Given the description of an element on the screen output the (x, y) to click on. 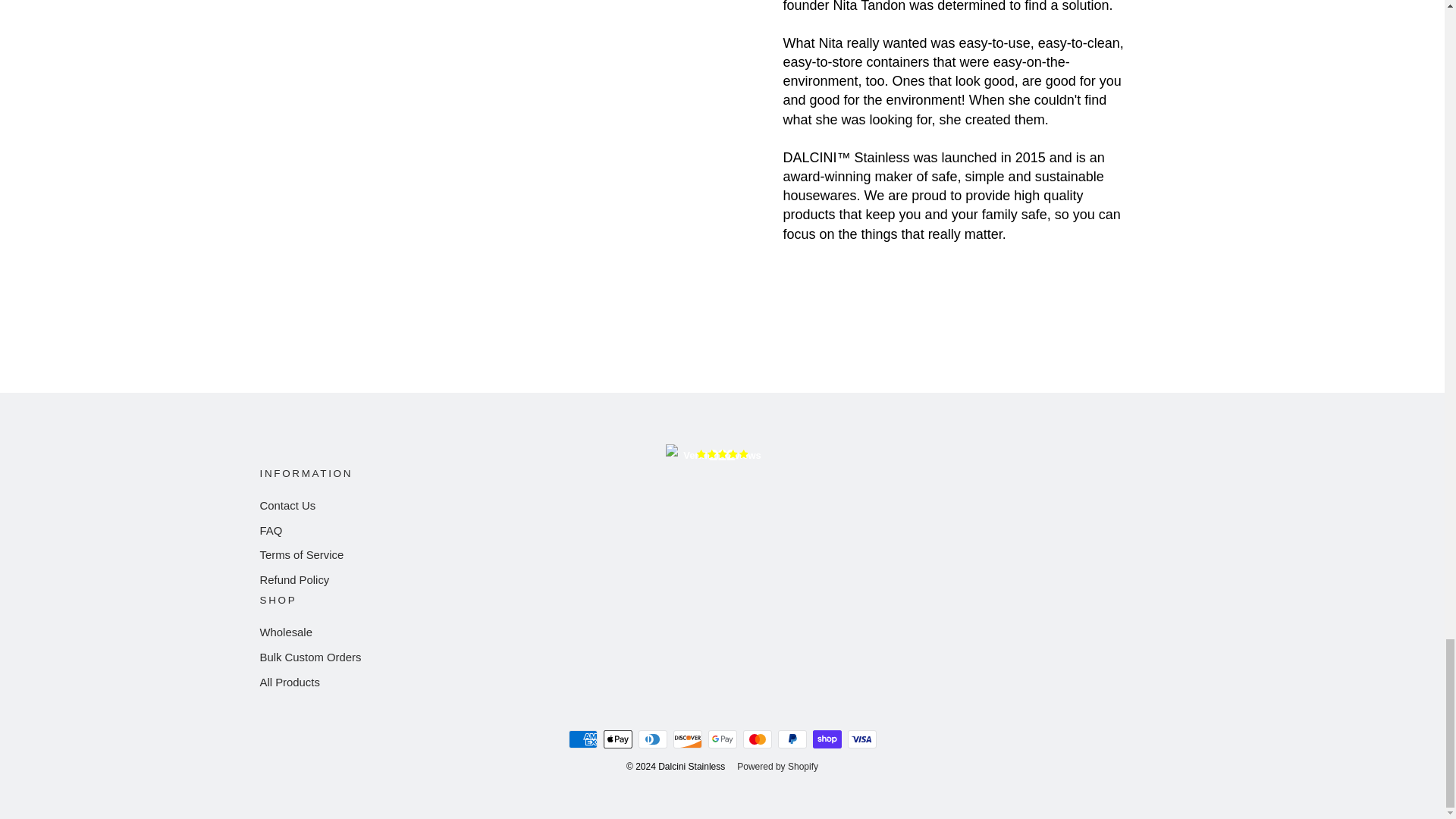
Diners Club (652, 739)
Google Pay (721, 739)
Apple Pay (617, 739)
American Express (582, 739)
Discover (686, 739)
